Given the description of an element on the screen output the (x, y) to click on. 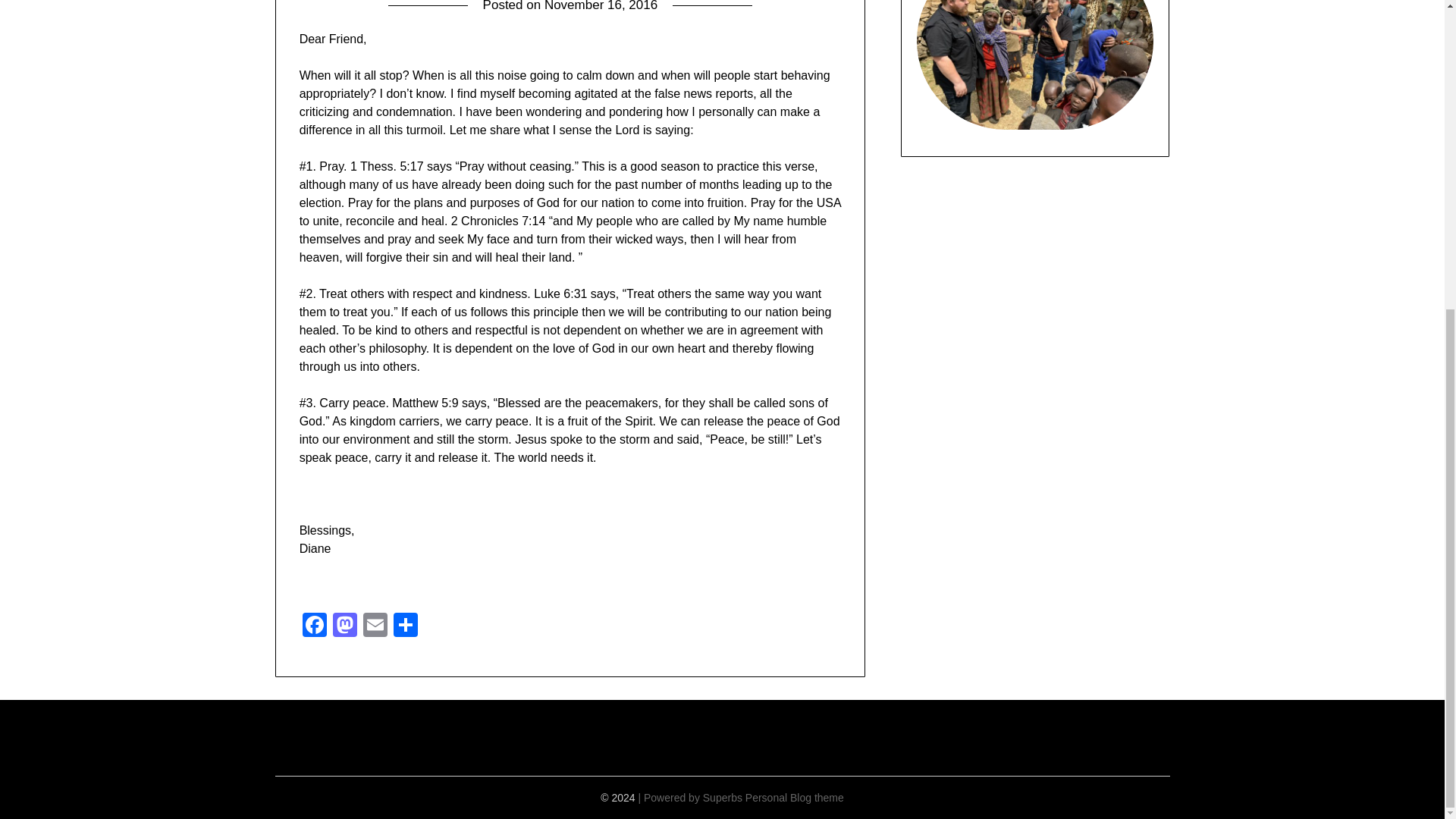
Personal Blog theme (794, 797)
Mastodon (344, 626)
November 16, 2016 (601, 6)
Facebook (314, 626)
Email (374, 626)
Mastodon (344, 626)
Email (374, 626)
Facebook (314, 626)
